Given the description of an element on the screen output the (x, y) to click on. 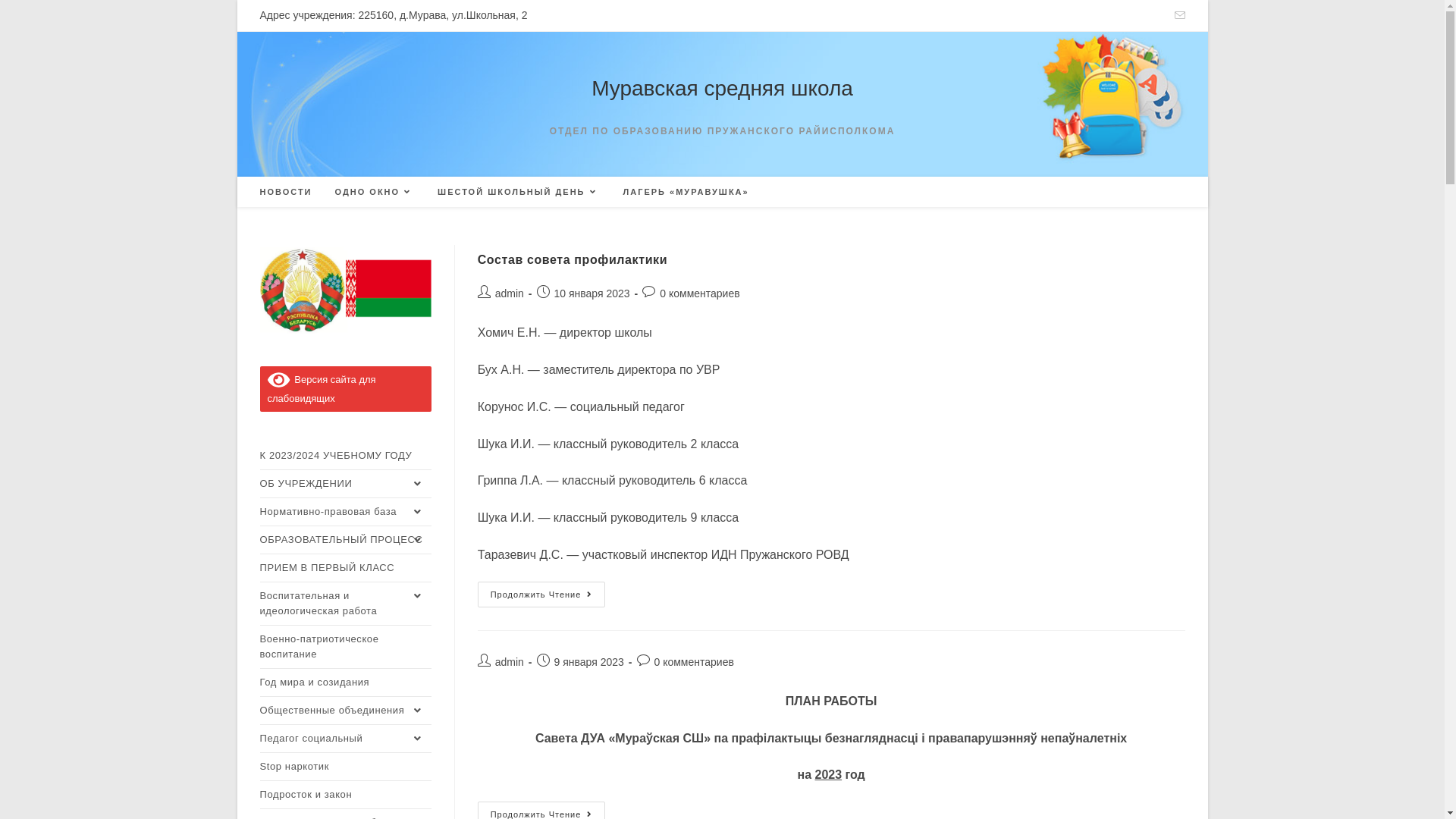
admin Element type: text (509, 293)
admin Element type: text (509, 661)
